Given the description of an element on the screen output the (x, y) to click on. 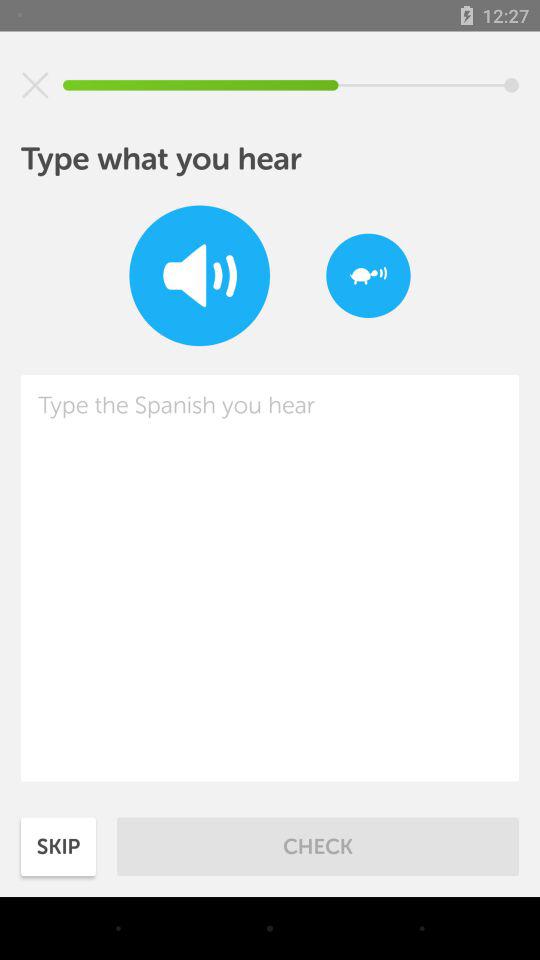
add text (270, 578)
